Given the description of an element on the screen output the (x, y) to click on. 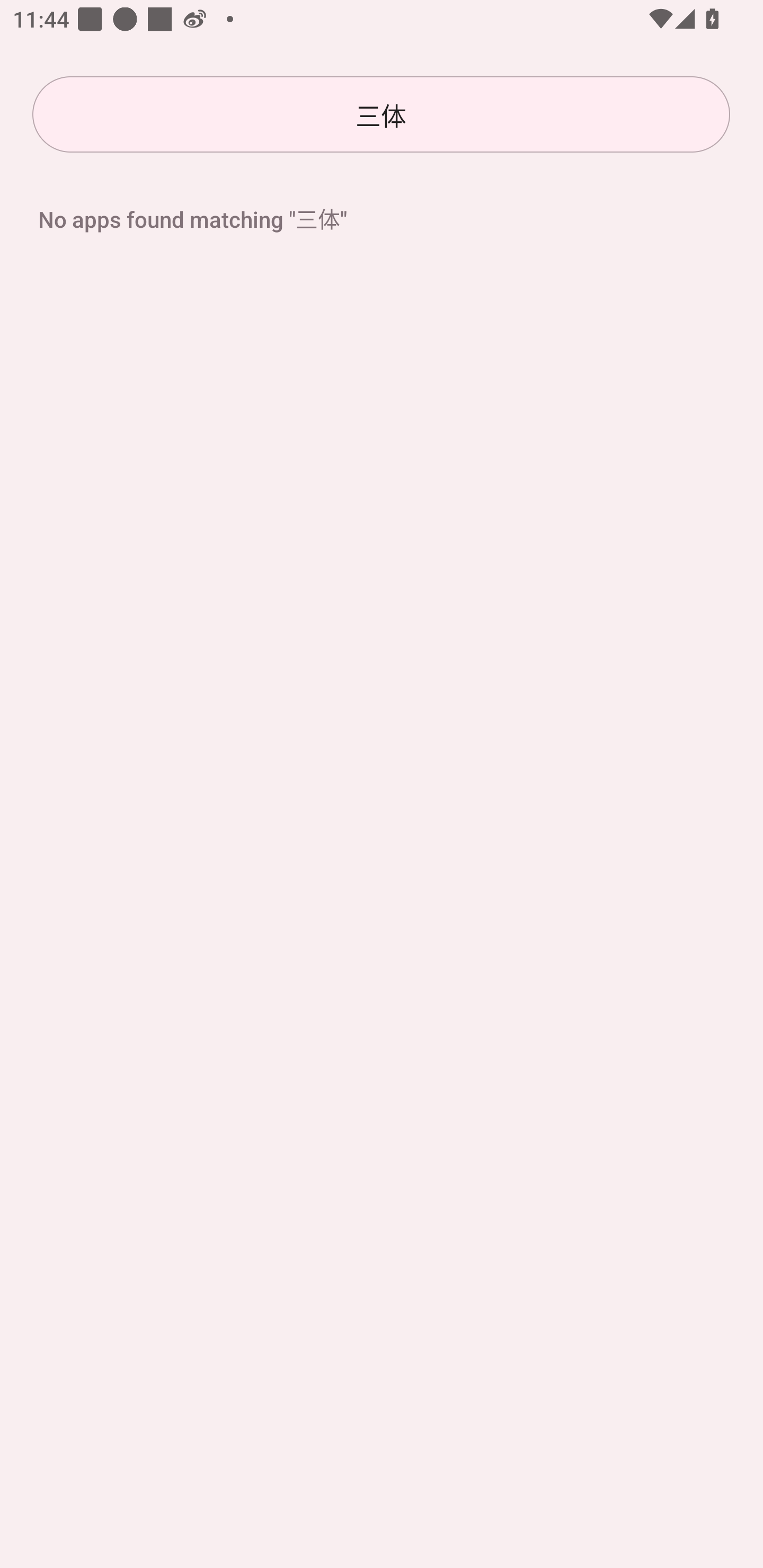
三体 (381, 114)
